Given the description of an element on the screen output the (x, y) to click on. 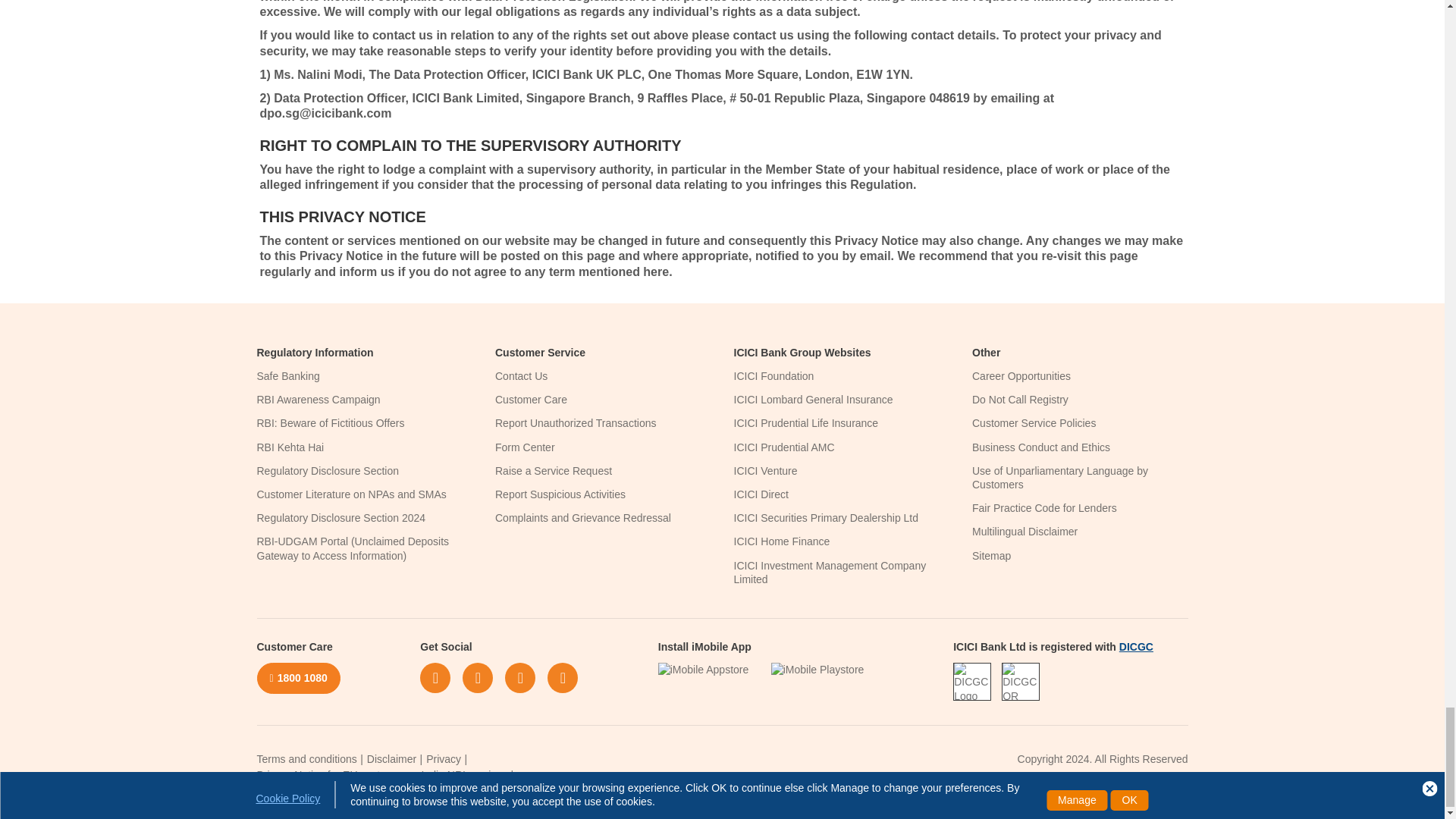
Safe Banking (287, 376)
RBI: Beware of Fictitious Offers (330, 422)
RBI Awareness Campaign (318, 399)
RBI Awareness Campaign (318, 399)
RBI: Beware of Fictitious Offers (330, 422)
Safe Banking (287, 376)
RBI Kehta Hai (289, 447)
